Given the description of an element on the screen output the (x, y) to click on. 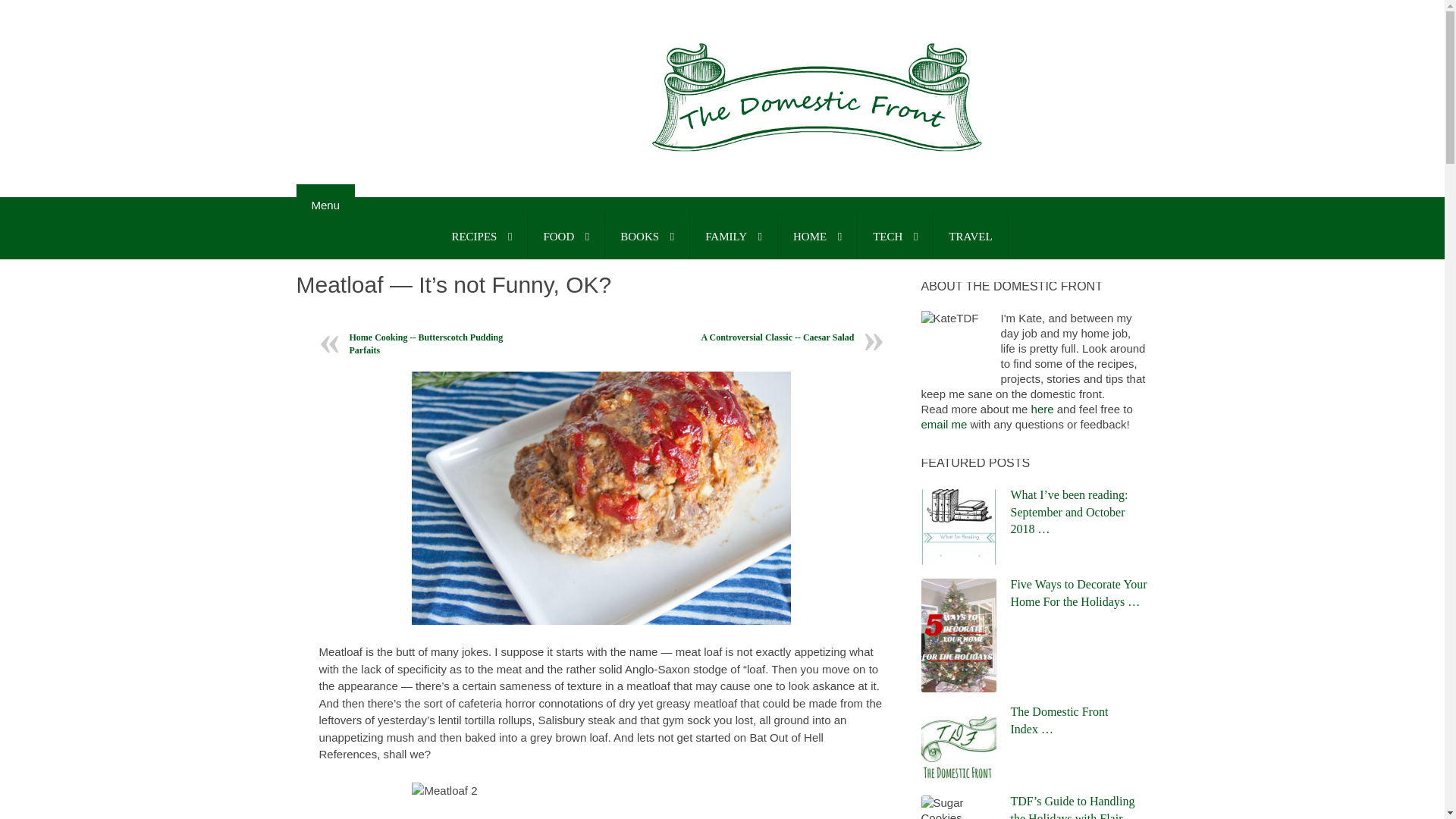
RECIPES (481, 236)
FOOD (565, 236)
Five Ways to Decorate Your Home For the Holidays (1078, 592)
HOME (817, 236)
Meatloaf 2 by The Domestic Front, on Flickr (600, 800)
FAMILY (733, 236)
Menu (325, 205)
BOOKS (646, 236)
